Given the description of an element on the screen output the (x, y) to click on. 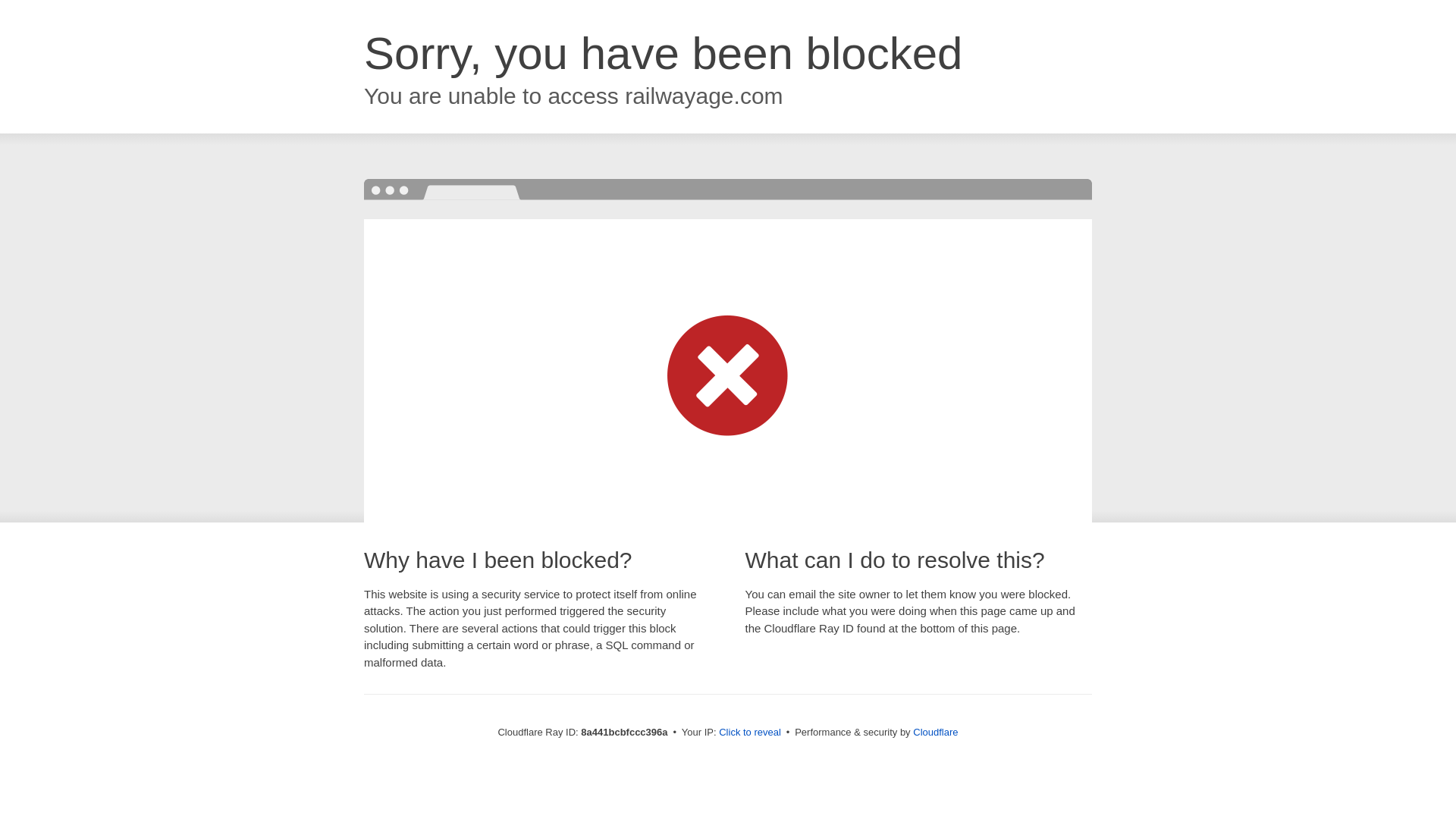
Cloudflare (935, 731)
Click to reveal (749, 732)
